Given the description of an element on the screen output the (x, y) to click on. 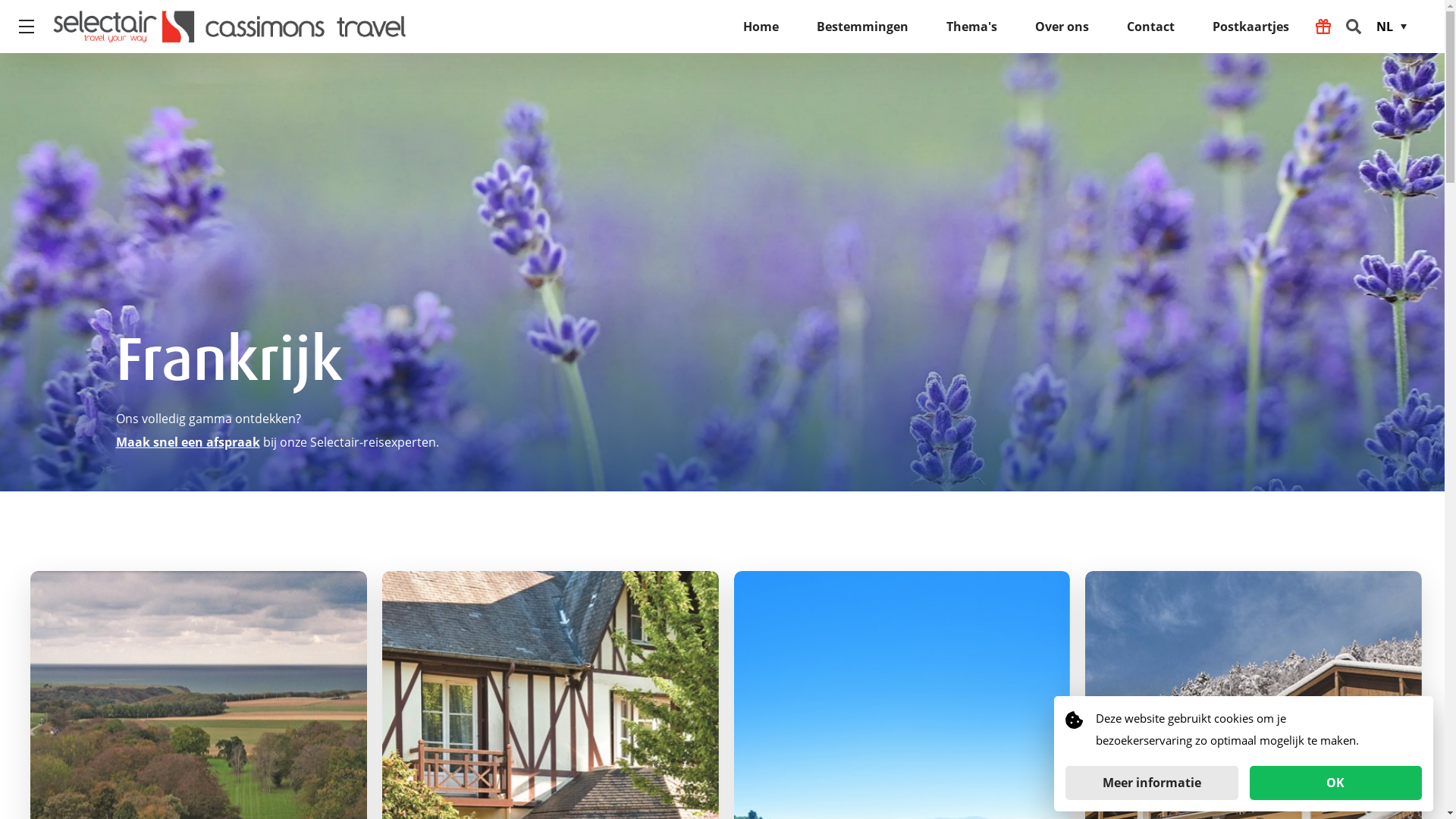
Bestemmingen Element type: text (862, 26)
Thema's Element type: text (971, 26)
Maak snel een afspraak Element type: text (187, 441)
Contact Element type: text (1150, 26)
Over ons Element type: text (1061, 26)
Home Element type: text (760, 26)
Meer informatie Element type: text (1151, 782)
Postkaartjes Element type: text (1250, 26)
OK Element type: text (1335, 782)
NL Element type: text (1397, 26)
